Given the description of an element on the screen output the (x, y) to click on. 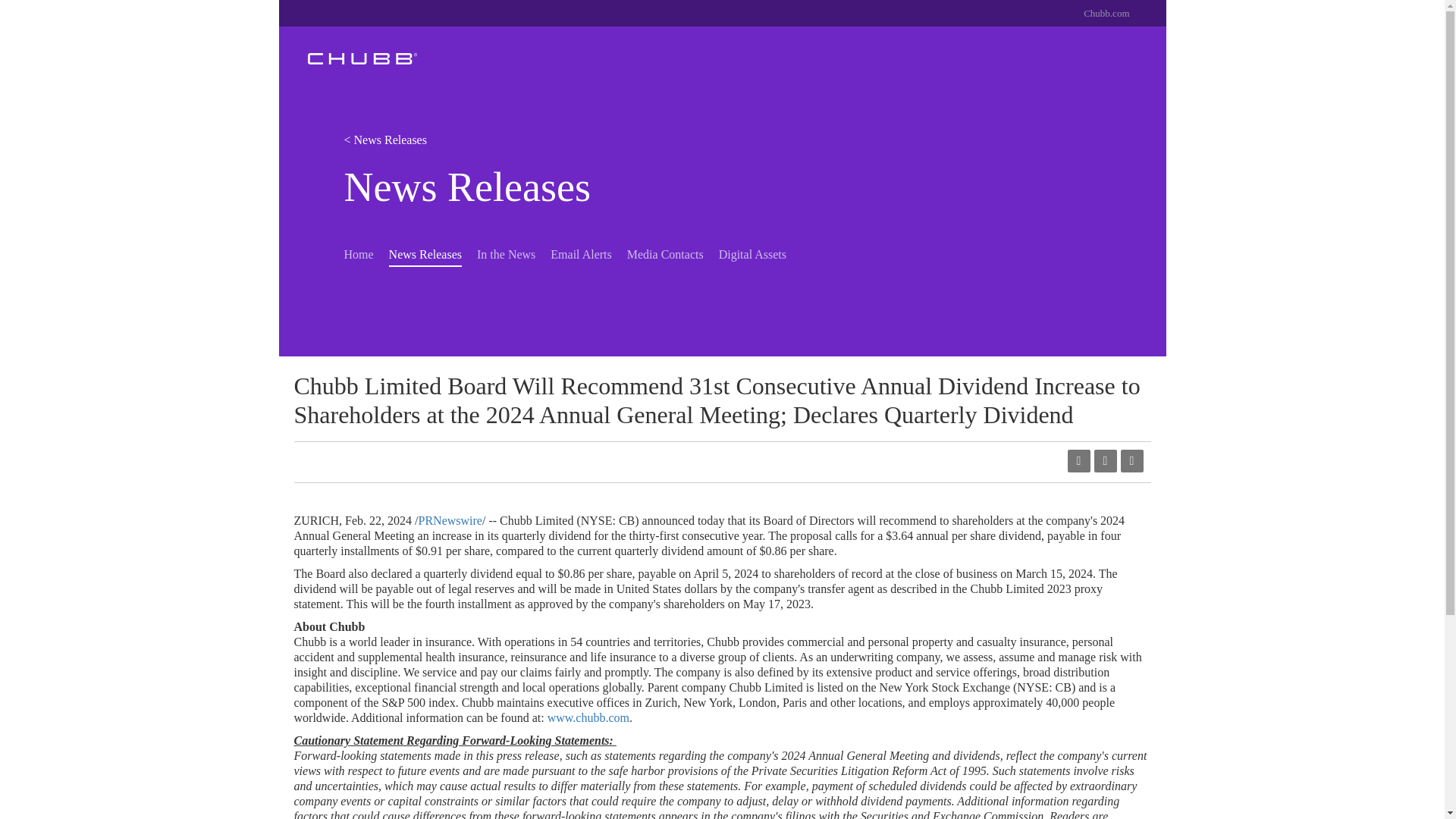
rss (1078, 460)
www.chubb.com (587, 717)
Chubb (361, 58)
Email Alerts (580, 254)
Chubb (361, 58)
Media Contacts (665, 254)
In the News (506, 254)
PRNewswire (450, 520)
print (1131, 460)
Digital Assets (752, 254)
email (1104, 460)
Home (358, 254)
Chubb.com (1106, 13)
